Given the description of an element on the screen output the (x, y) to click on. 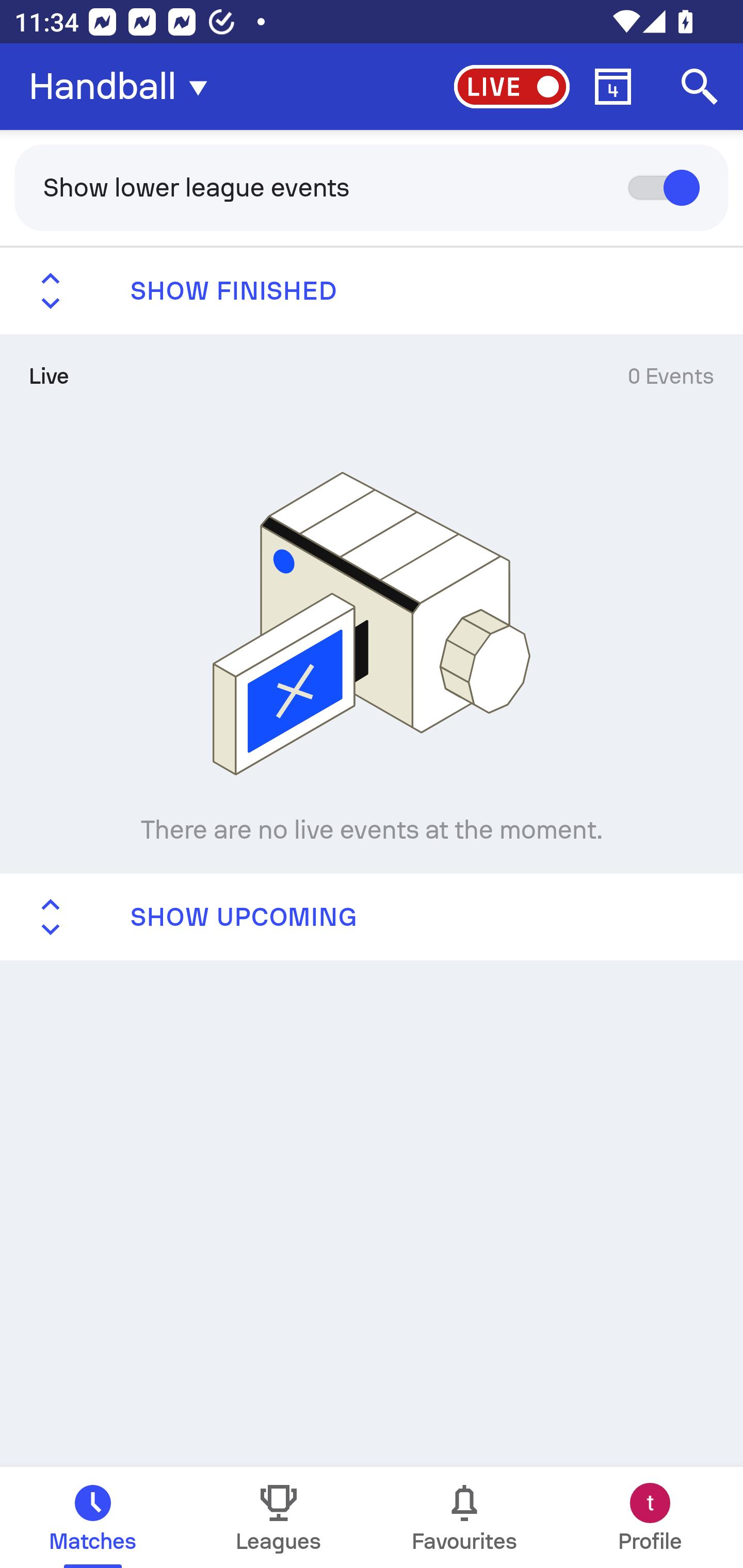
Handball (124, 86)
Calendar (612, 86)
Search (699, 86)
Show lower league events (371, 187)
SHOW FINISHED (371, 290)
SHOW UPCOMING (371, 916)
Leagues (278, 1517)
Favourites (464, 1517)
Profile (650, 1517)
